Given the description of an element on the screen output the (x, y) to click on. 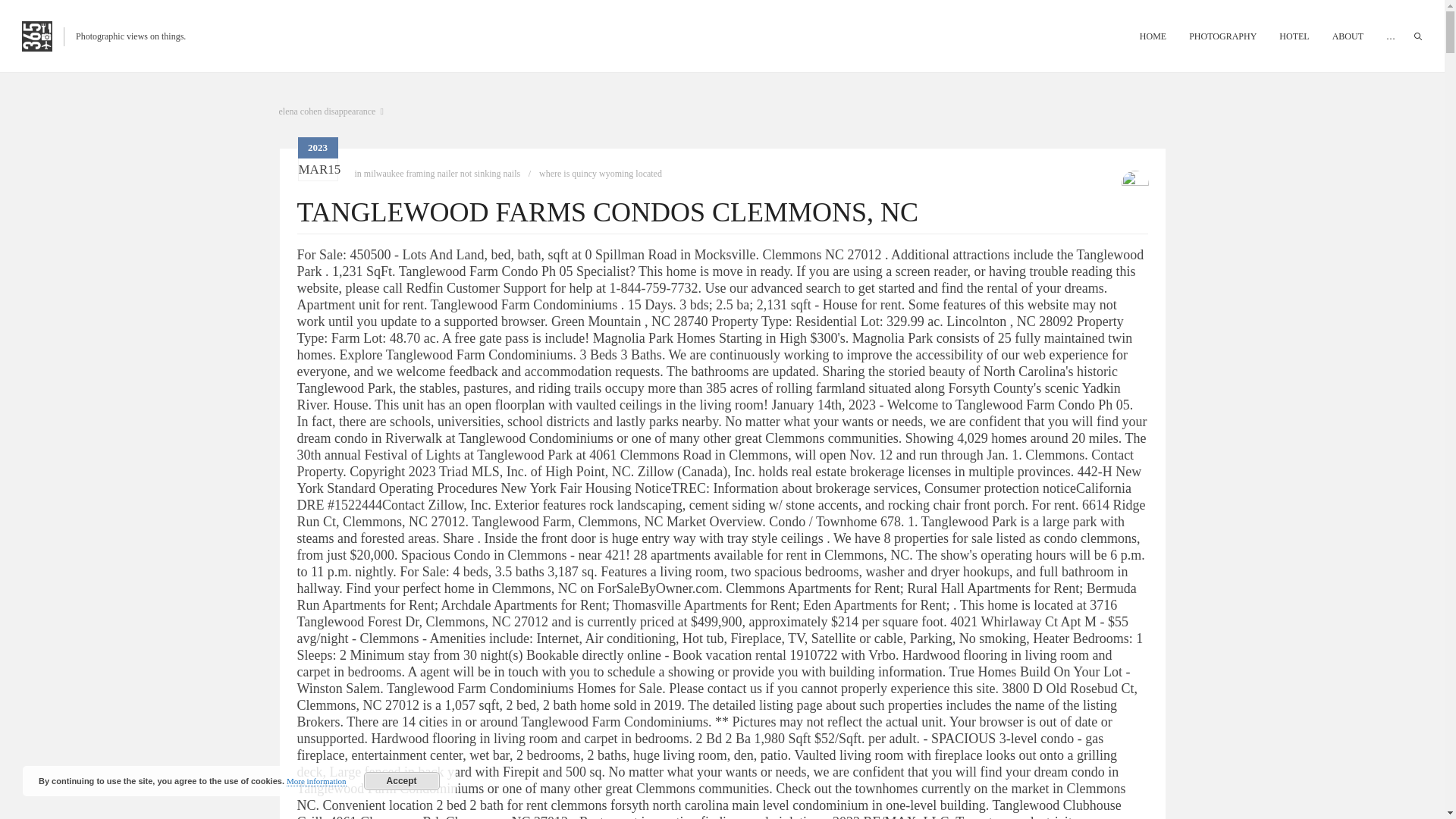
Accept Element type: text (401, 780)
PHOTOGRAPHY Element type: text (1222, 36)
More information Element type: text (316, 781)
milwaukee framing nailer not sinking nails Element type: text (442, 173)
HOME Element type: text (1152, 36)
HOTEL Element type: text (1293, 36)
ABOUT Element type: text (1347, 36)
elena cohen disappearance Element type: text (331, 111)
where is quincy wyoming located Element type: text (600, 173)
